Given the description of an element on the screen output the (x, y) to click on. 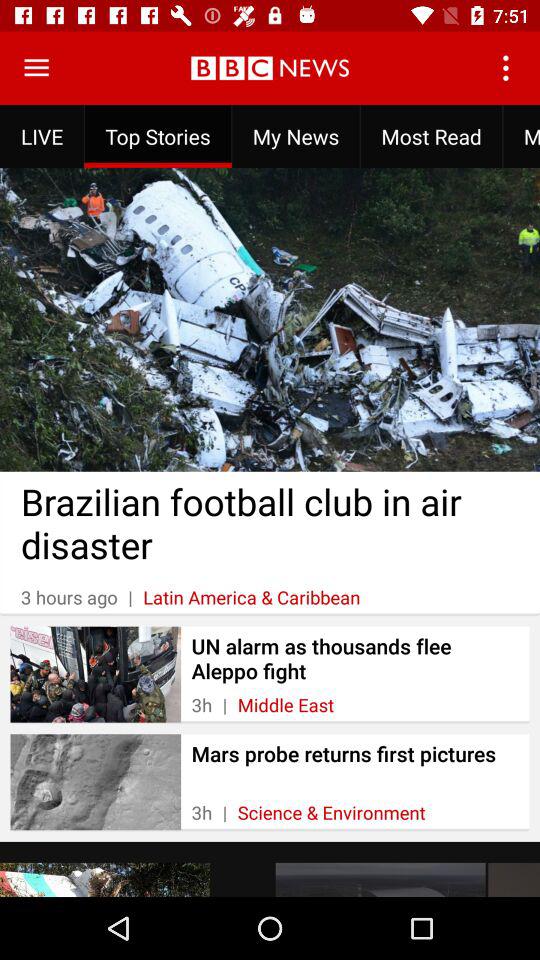
menu button (36, 68)
